Given the description of an element on the screen output the (x, y) to click on. 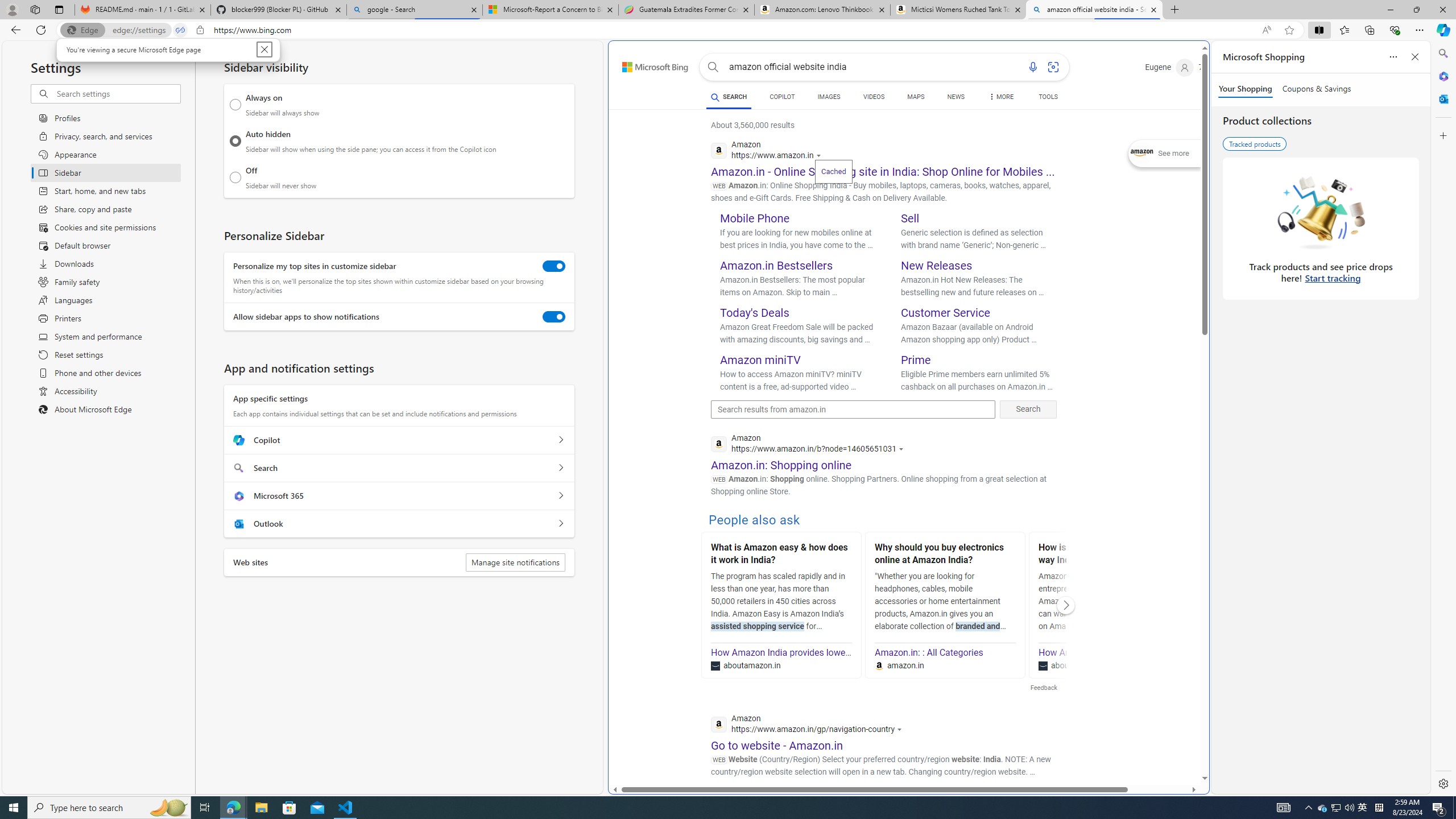
Customer Service (945, 312)
NEWS (955, 96)
Search more (1179, 744)
Copilot (560, 439)
